Given the description of an element on the screen output the (x, y) to click on. 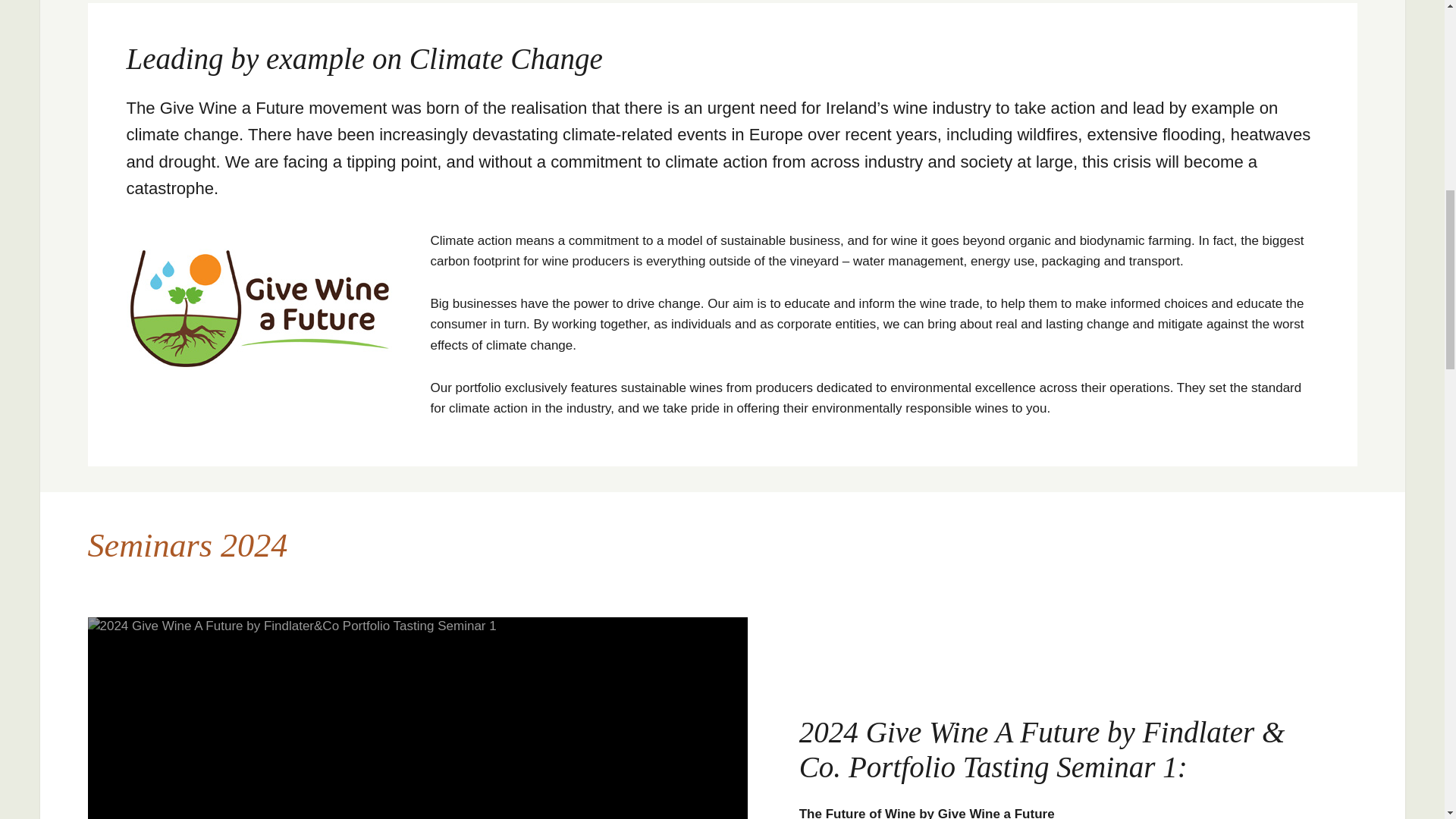
Portfolio Tasting Seminar 1 (417, 718)
